Given the description of an element on the screen output the (x, y) to click on. 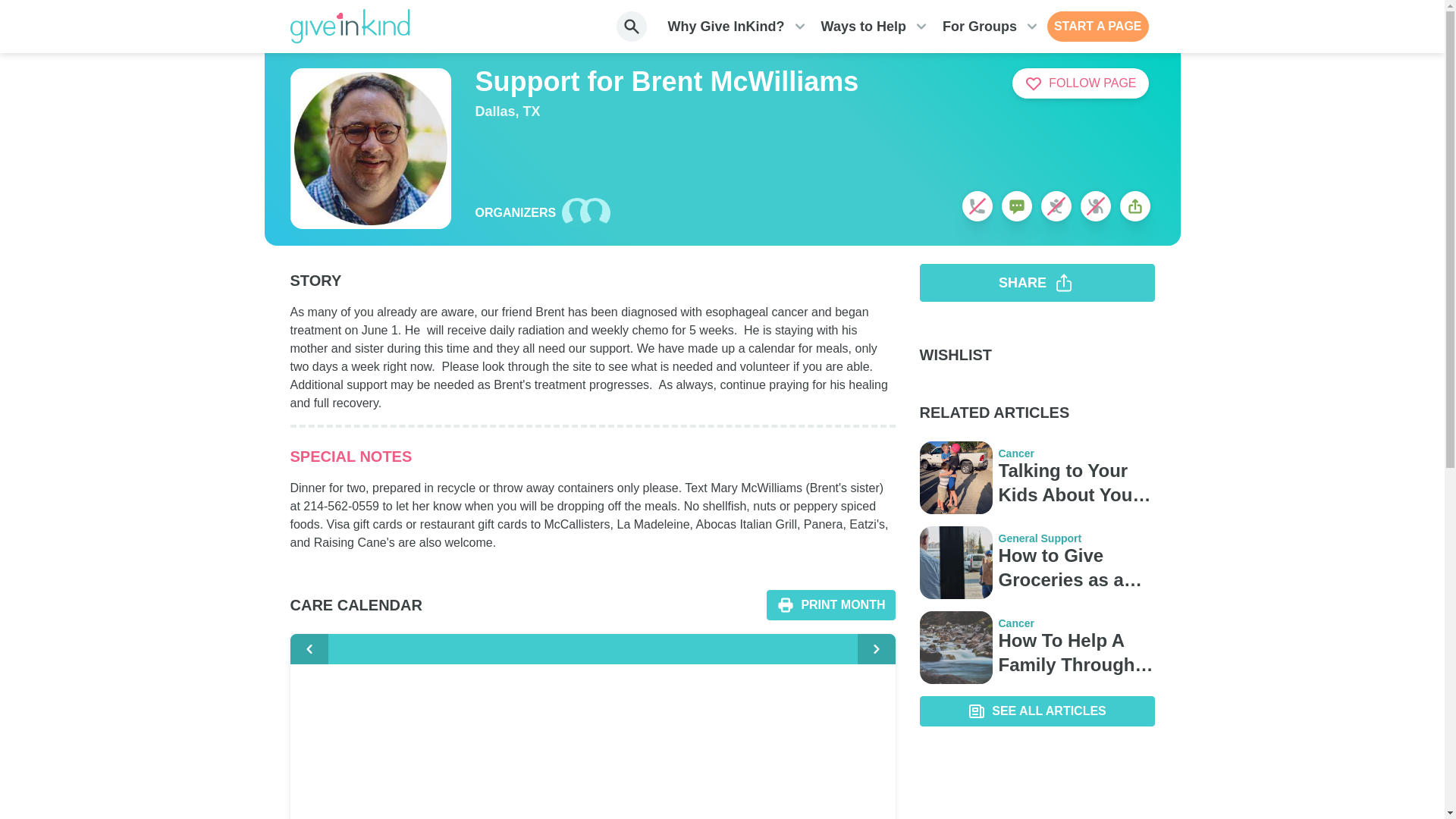
General Support (1075, 538)
Talking to Your Kids About Your Cancer (1075, 482)
PRINT MONTH (831, 604)
START A PAGE (1097, 26)
Why Give InKind? (726, 27)
How To Help A Family Through Cancer Treatment (1075, 652)
Cancer (1075, 623)
SHARE (1036, 282)
Ways to Help (863, 27)
For Groups (979, 27)
